Given the description of an element on the screen output the (x, y) to click on. 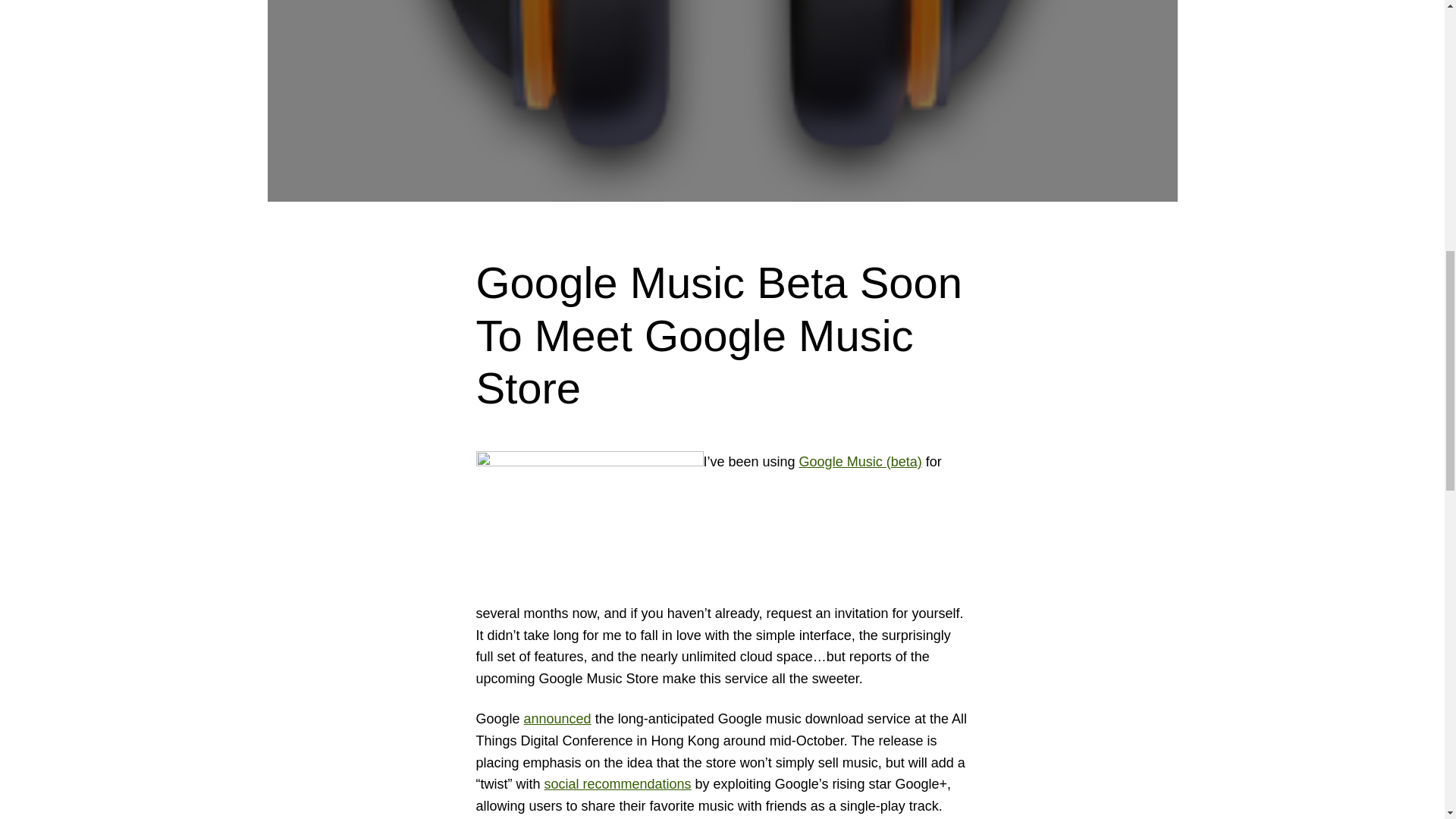
announced (557, 718)
musicbeta (589, 526)
social recommendations (617, 783)
